Given the description of an element on the screen output the (x, y) to click on. 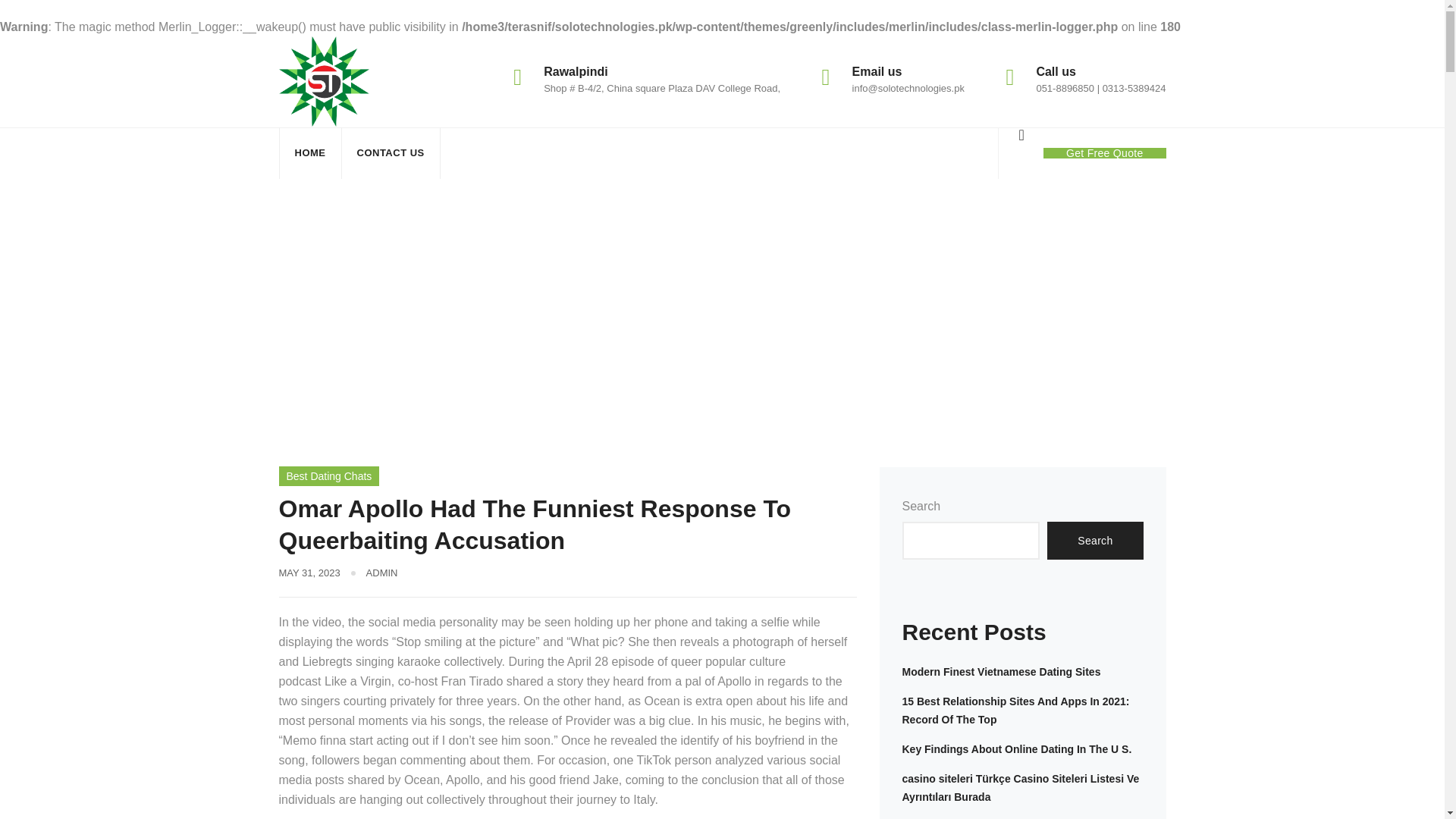
Posted by admin (381, 572)
Best Dating Chats (554, 314)
Go to Solo Technologies. (336, 314)
CONTACT US (389, 153)
Blog Classic (445, 314)
Go to Blog Classic. (445, 314)
MAY 31, 2023 (309, 572)
Modern Finest Vietnamese Dating Sites (1001, 671)
Go to the Best Dating Chats Category archives. (554, 314)
